Given the description of an element on the screen output the (x, y) to click on. 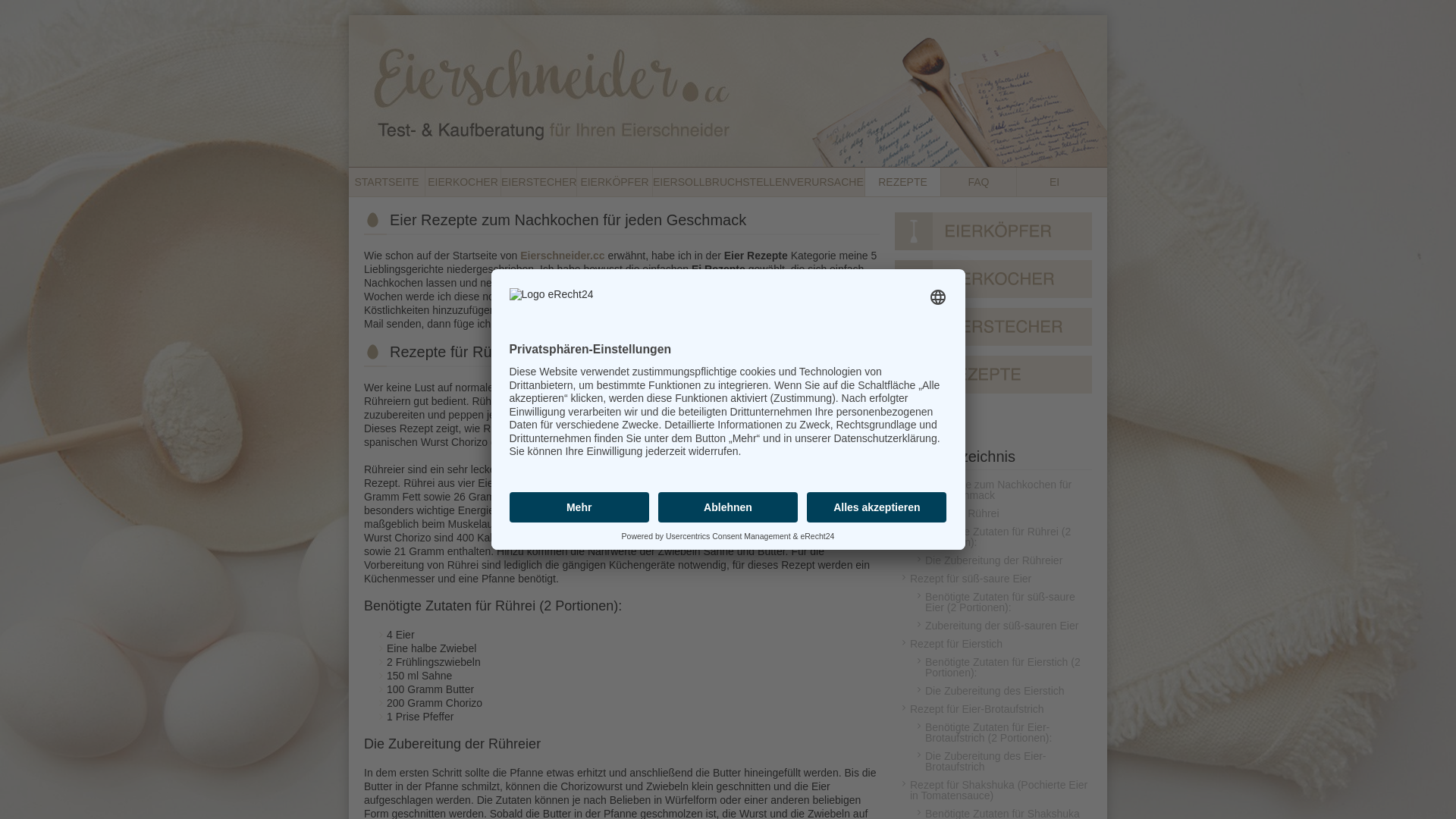
FAQ Element type: hover (993, 425)
REZEPTE Element type: text (902, 181)
Eierschneider.cc Element type: text (562, 255)
EIERKOCHER Element type: text (462, 181)
Eierkocher Element type: hover (993, 282)
STARTSEITE Element type: text (386, 181)
Eierschneider - Vergleich, Test und Kauf Element type: text (727, 90)
EI Element type: text (1054, 181)
Die Zubereitung des Eierstich Element type: text (1001, 690)
Die Zubereitung des Eier-Brotaufstrich Element type: text (1001, 760)
Eierstecher Element type: hover (993, 330)
EIERSTECHER Element type: text (538, 181)
Rezepte Element type: hover (993, 378)
EIERSOLLBRUCHSTELLENVERURSACHER Element type: text (758, 181)
FAQ Element type: text (978, 181)
